Given the description of an element on the screen output the (x, y) to click on. 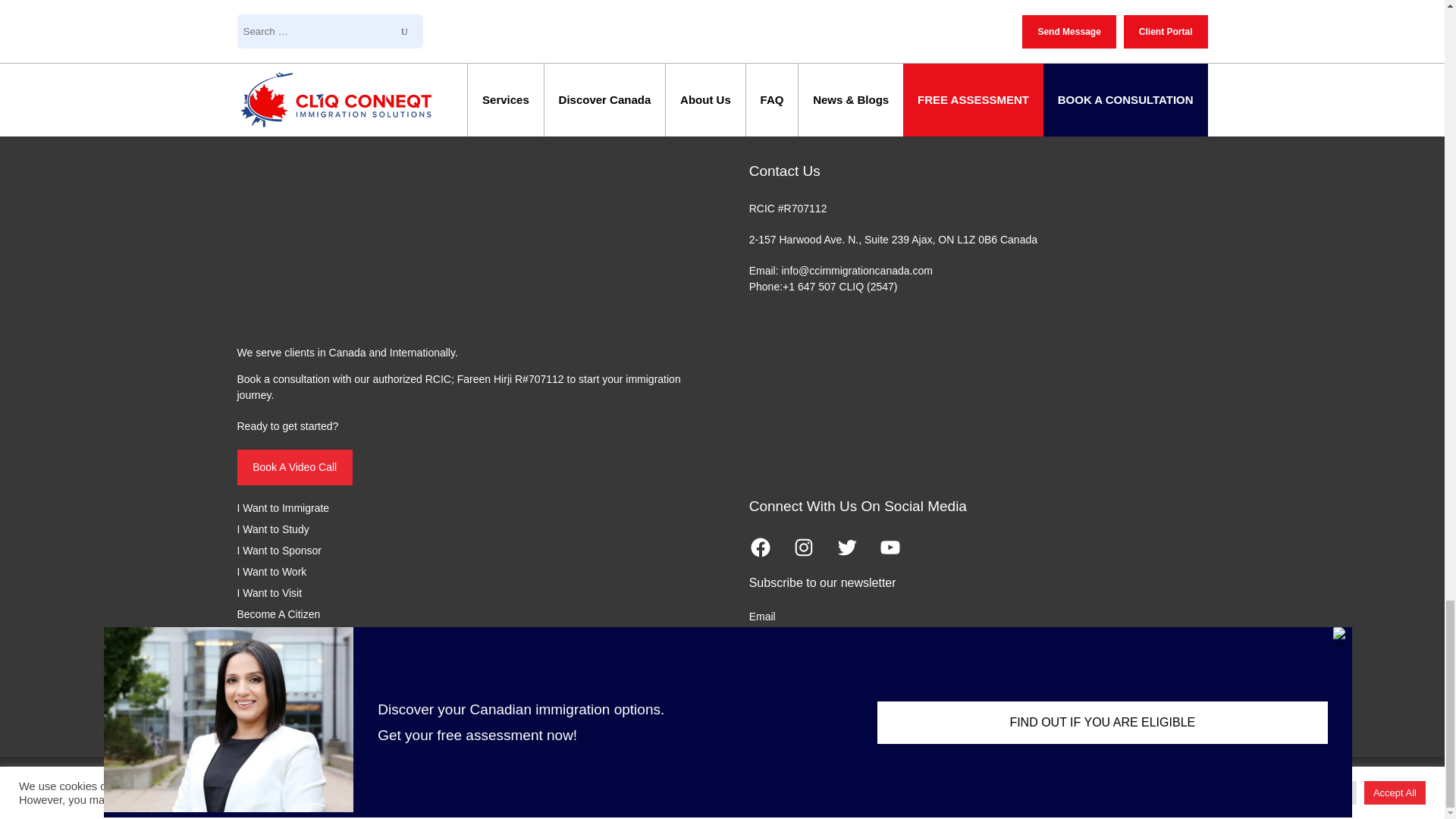
I Want to Immigrate (282, 508)
SEND MESSAGE (327, 16)
I Want to Sponsor (278, 550)
Book A Video Call (293, 467)
SEND MESSAGE (327, 16)
I Want to Study (271, 529)
